Given the description of an element on the screen output the (x, y) to click on. 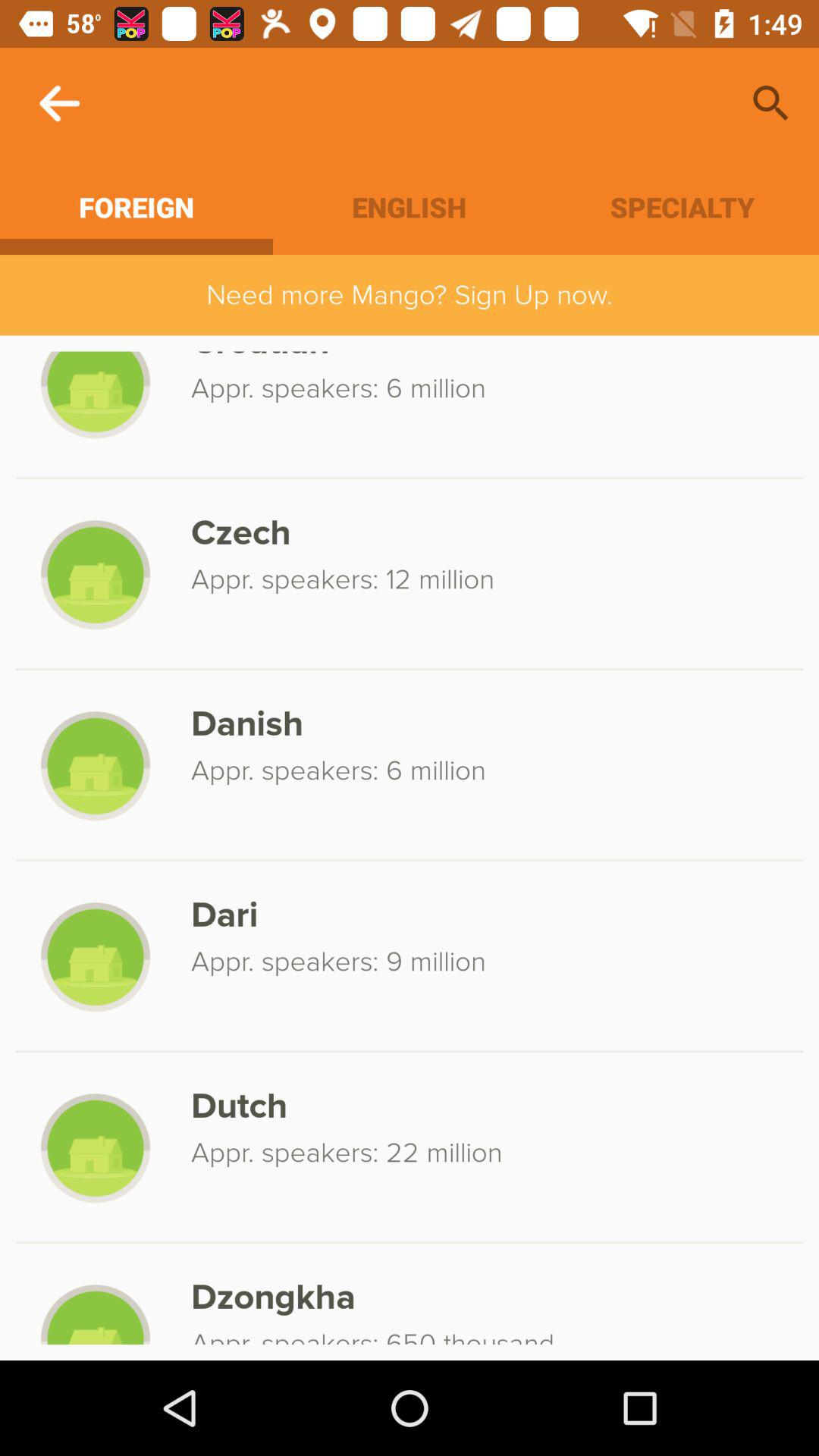
select need more mango (409, 294)
